Given the description of an element on the screen output the (x, y) to click on. 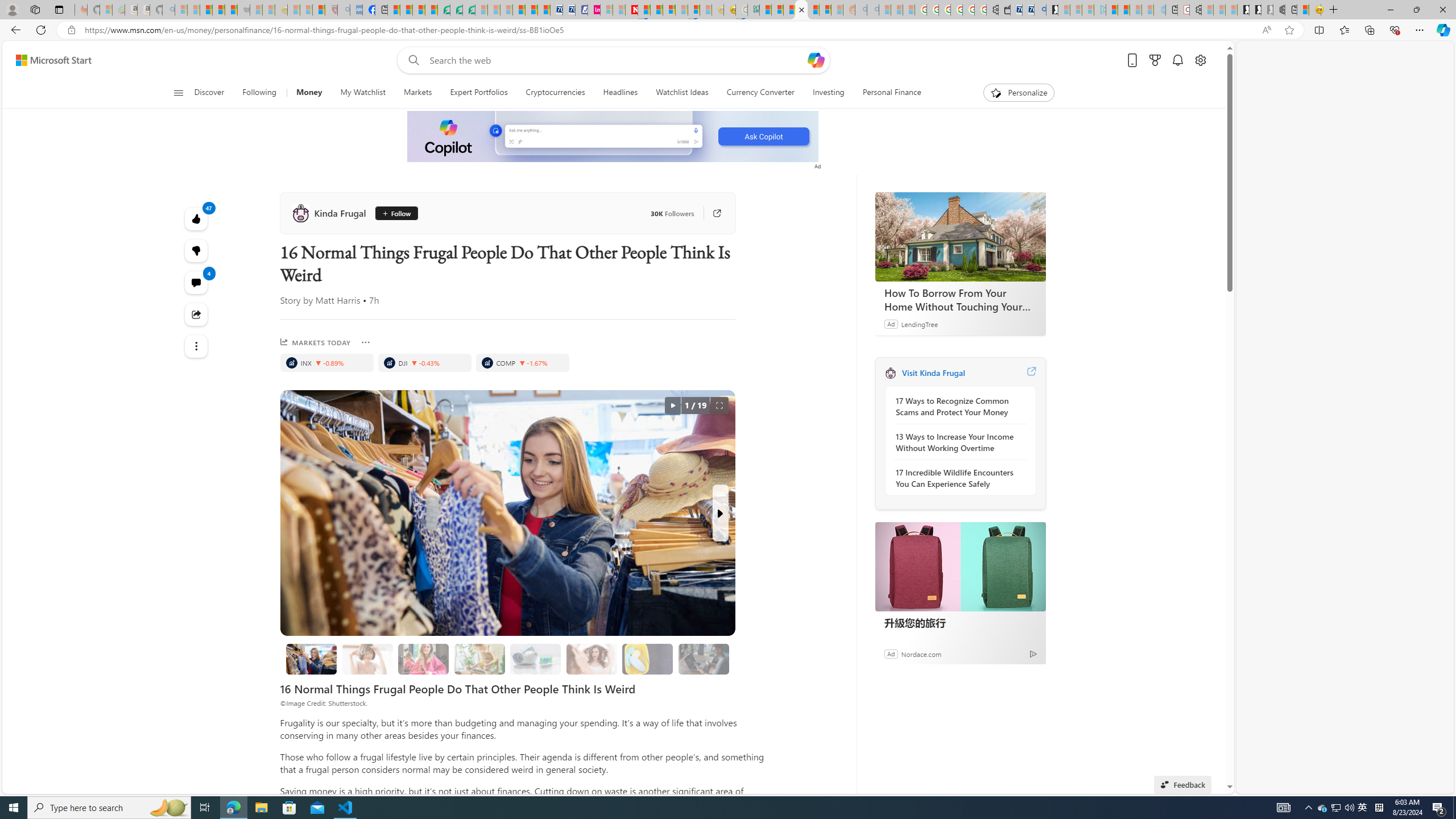
My Watchlist (362, 92)
Headlines (620, 92)
14 Common Myths Debunked By Scientific Facts (656, 9)
Watchlist Ideas (681, 92)
Nordace.com (920, 653)
Kinda Frugal (889, 372)
Markets (417, 92)
